Given the description of an element on the screen output the (x, y) to click on. 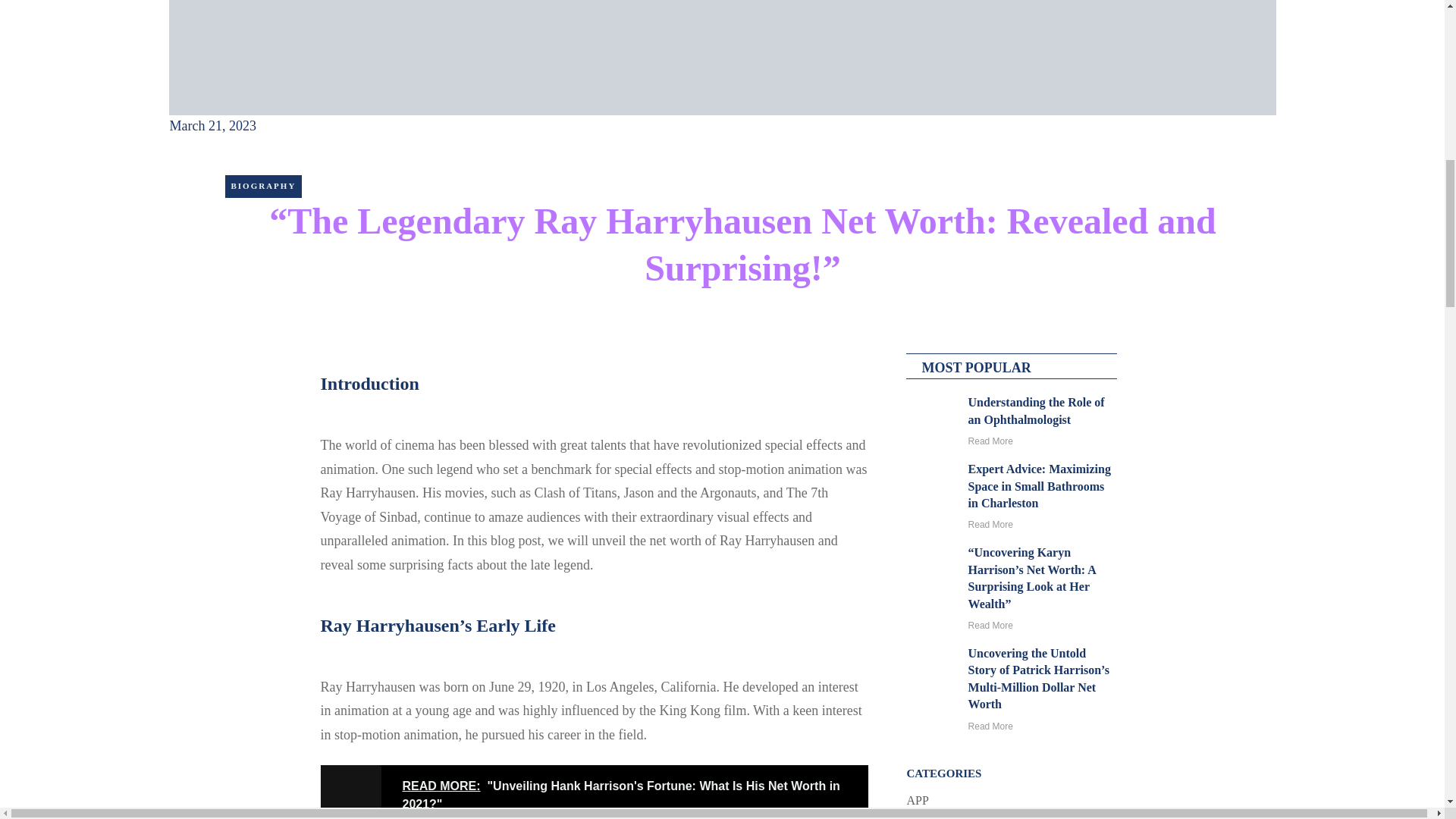
BIOGRAPHY (262, 185)
Understanding the Role of an Ophthalmologist (1036, 410)
Biography (262, 185)
